Given the description of an element on the screen output the (x, y) to click on. 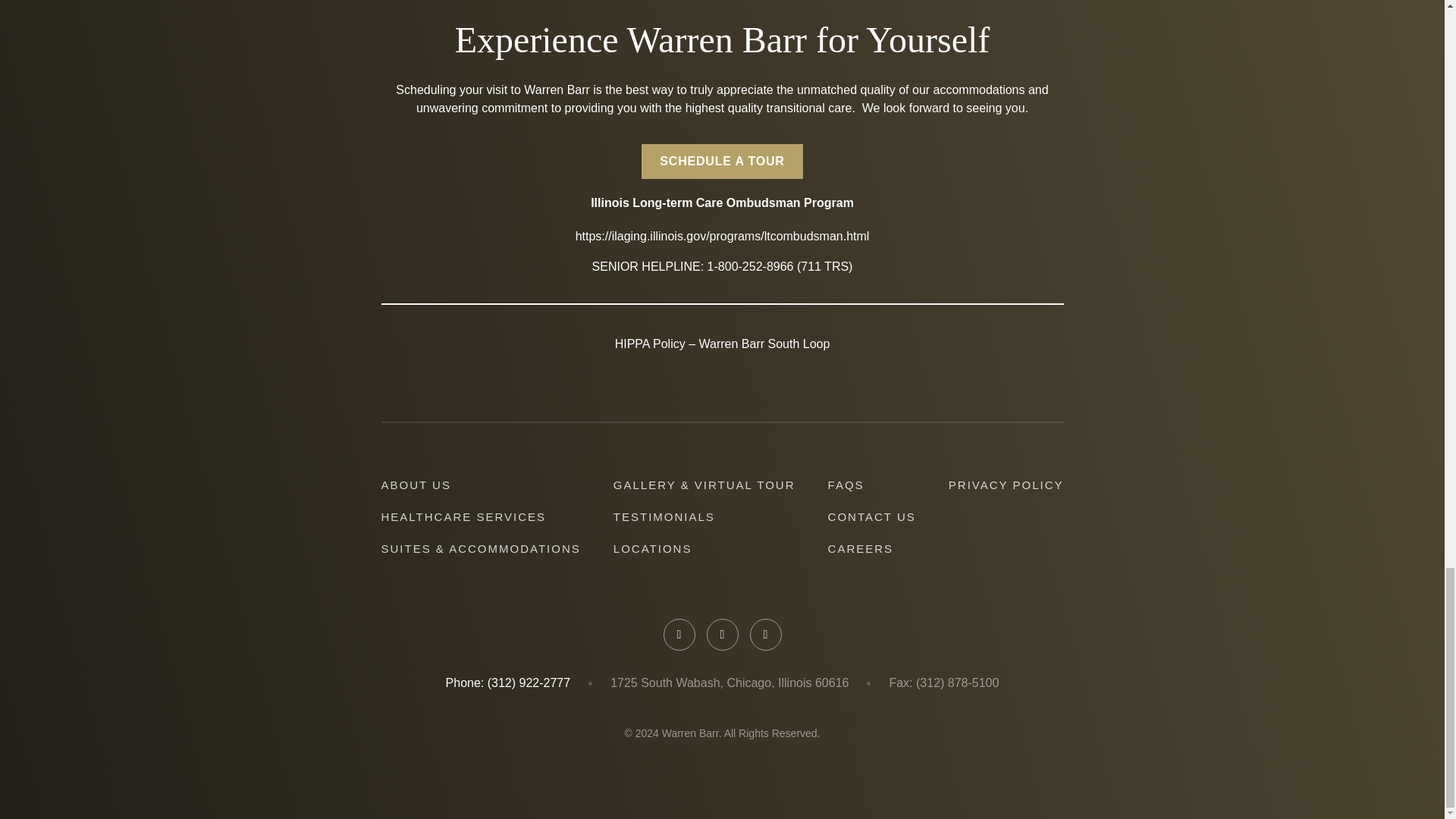
PRIVACY POLICY (1006, 484)
ABOUT US (414, 484)
TESTIMONIALS (663, 516)
Youtube (764, 634)
CONTACT US (871, 516)
HEALTHCARE SERVICES (463, 516)
LOCATIONS (652, 548)
CAREERS (860, 548)
SCHEDULE A TOUR (722, 161)
LinkedIn (722, 634)
FAQS (846, 484)
Facebook (678, 634)
